Given the description of an element on the screen output the (x, y) to click on. 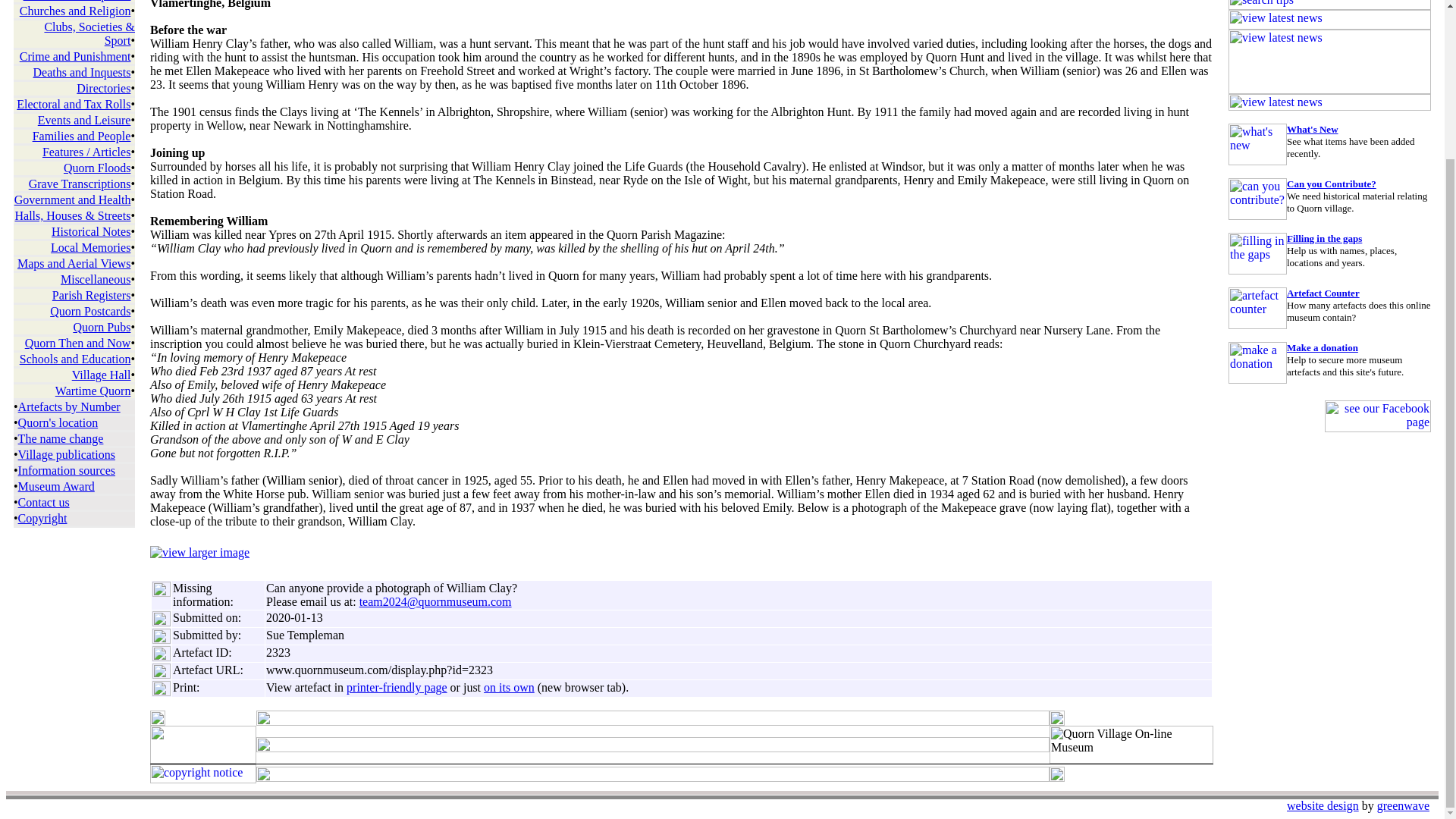
Quorn Pubs (101, 327)
Directories (104, 88)
printer-friendly page (396, 686)
Grave Transcriptions (80, 183)
Families and People (81, 135)
Events and Leisure (84, 119)
Crime and Punishment (75, 56)
Information sources (66, 470)
Census Transcriptions (77, 0)
Deaths and Inquests (82, 72)
